Given the description of an element on the screen output the (x, y) to click on. 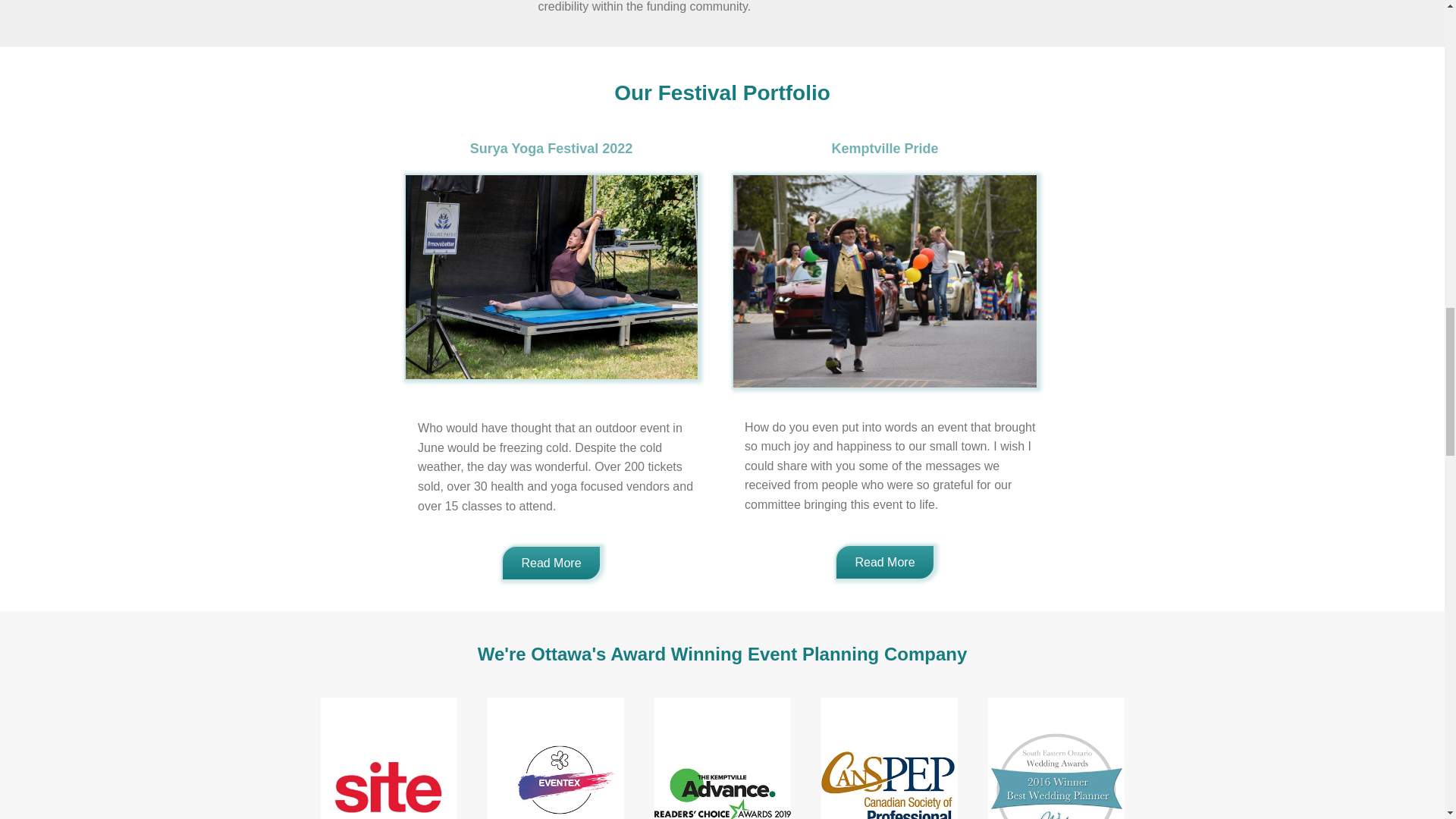
217-CanSPEP-Scholarship-Award (888, 758)
Surya Yoga Festival 2022 (550, 148)
Kemptville-Pride-Parade-June-0119-19-scaled-1024x683 (884, 281)
siteLogo (388, 758)
Kemptville Pride (884, 148)
